Given the description of an element on the screen output the (x, y) to click on. 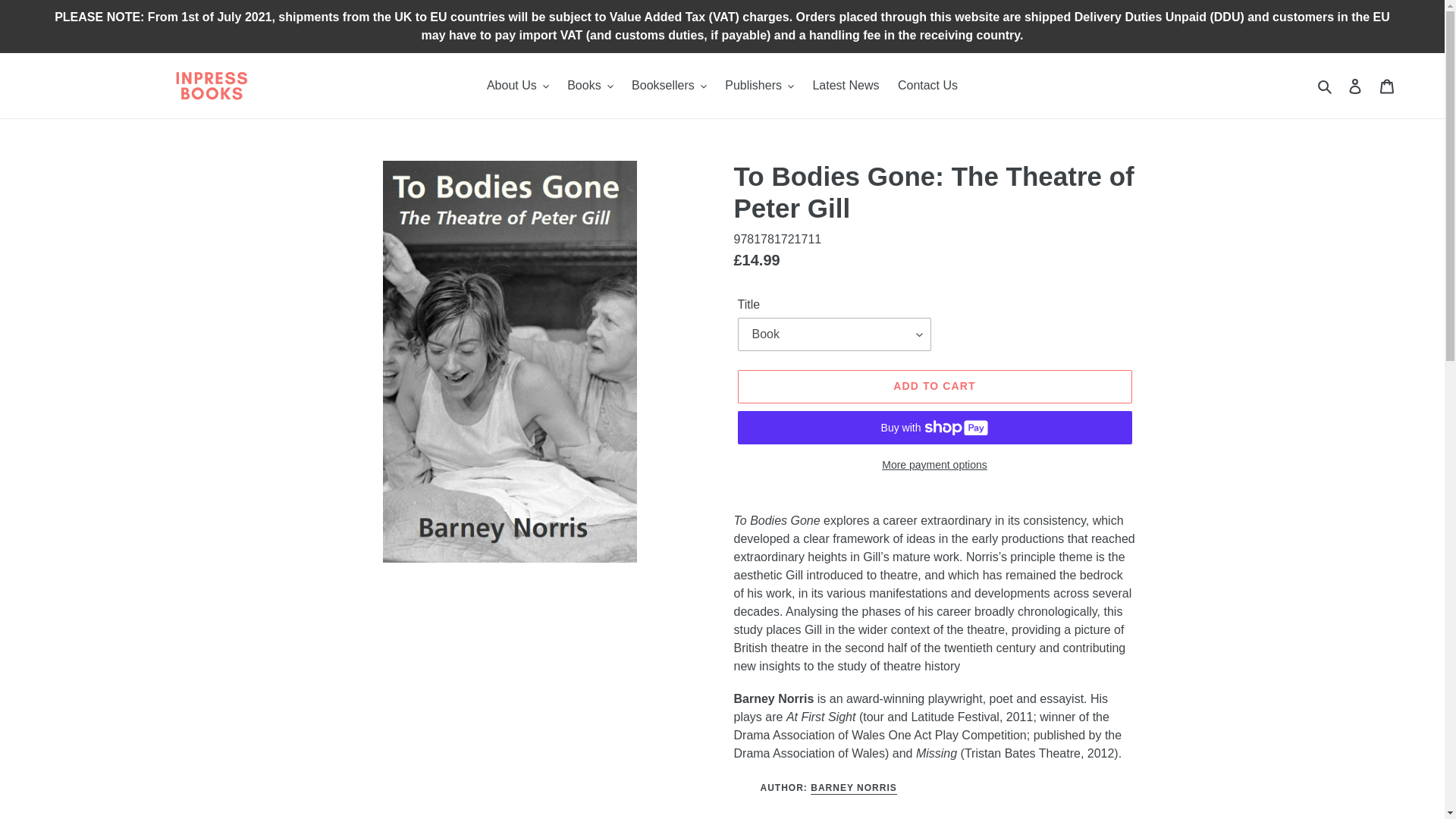
Publishers (759, 85)
Latest News (845, 85)
About Us (517, 85)
Books (589, 85)
Booksellers (669, 85)
